Given the description of an element on the screen output the (x, y) to click on. 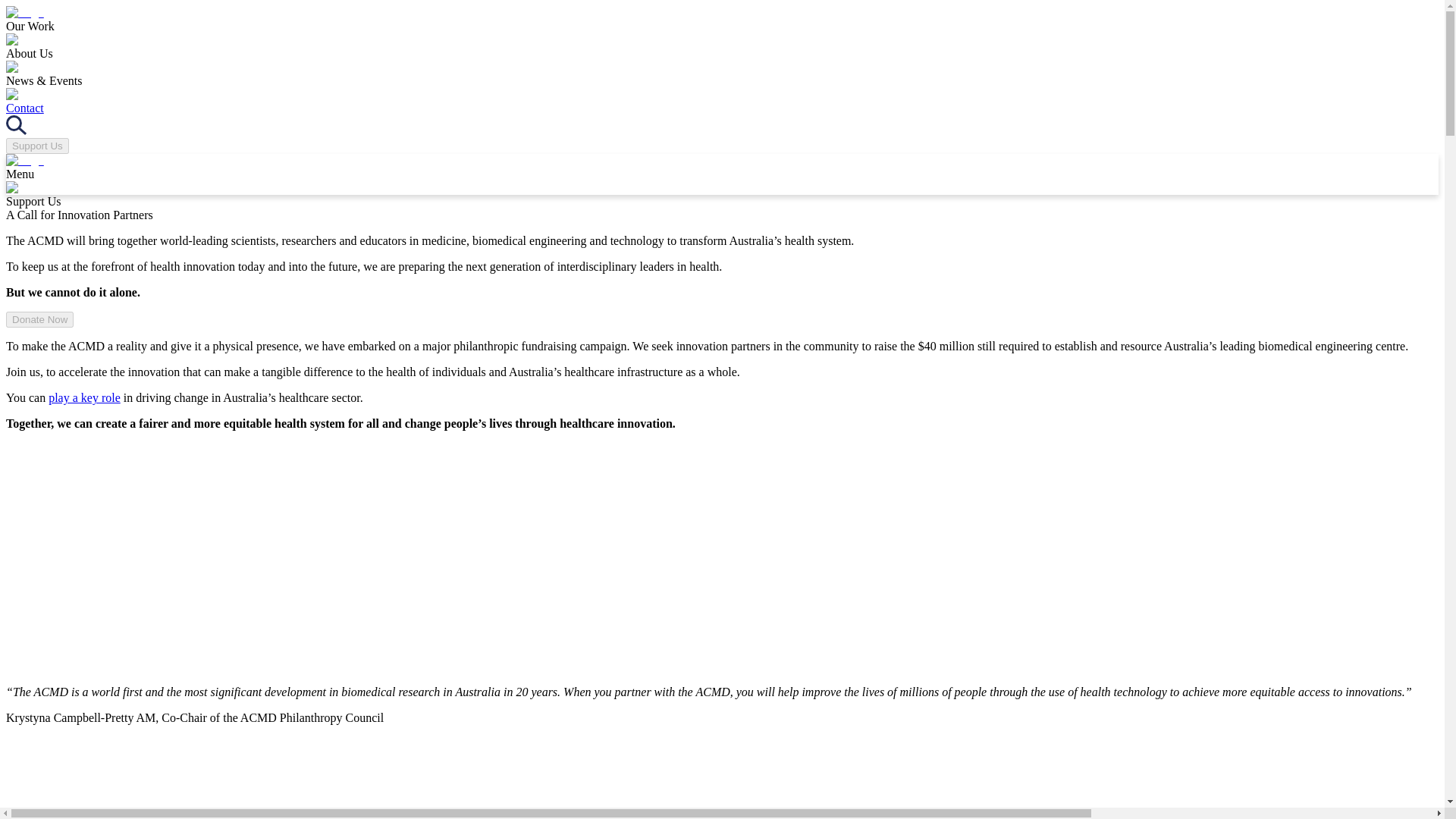
Support Us (36, 145)
Donate Now (39, 318)
Donate Now (39, 319)
Donate Now (39, 318)
play a key role (84, 397)
Contact (24, 107)
Support Us (36, 144)
